Given the description of an element on the screen output the (x, y) to click on. 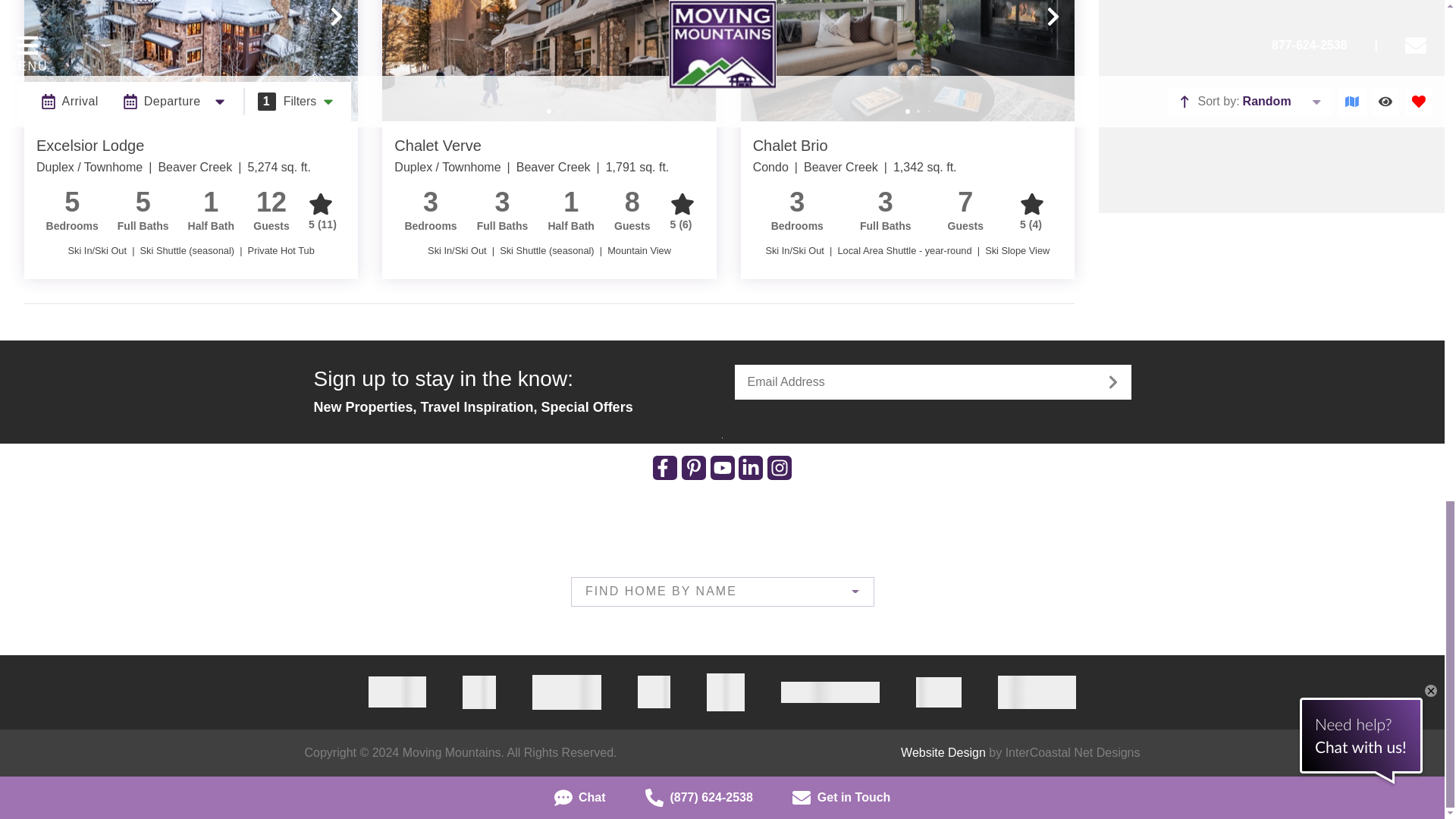
youtube (721, 467)
facebook (664, 467)
pinterest (693, 467)
linkedin (750, 467)
instagram (779, 467)
Find Home by Name (722, 592)
